Given the description of an element on the screen output the (x, y) to click on. 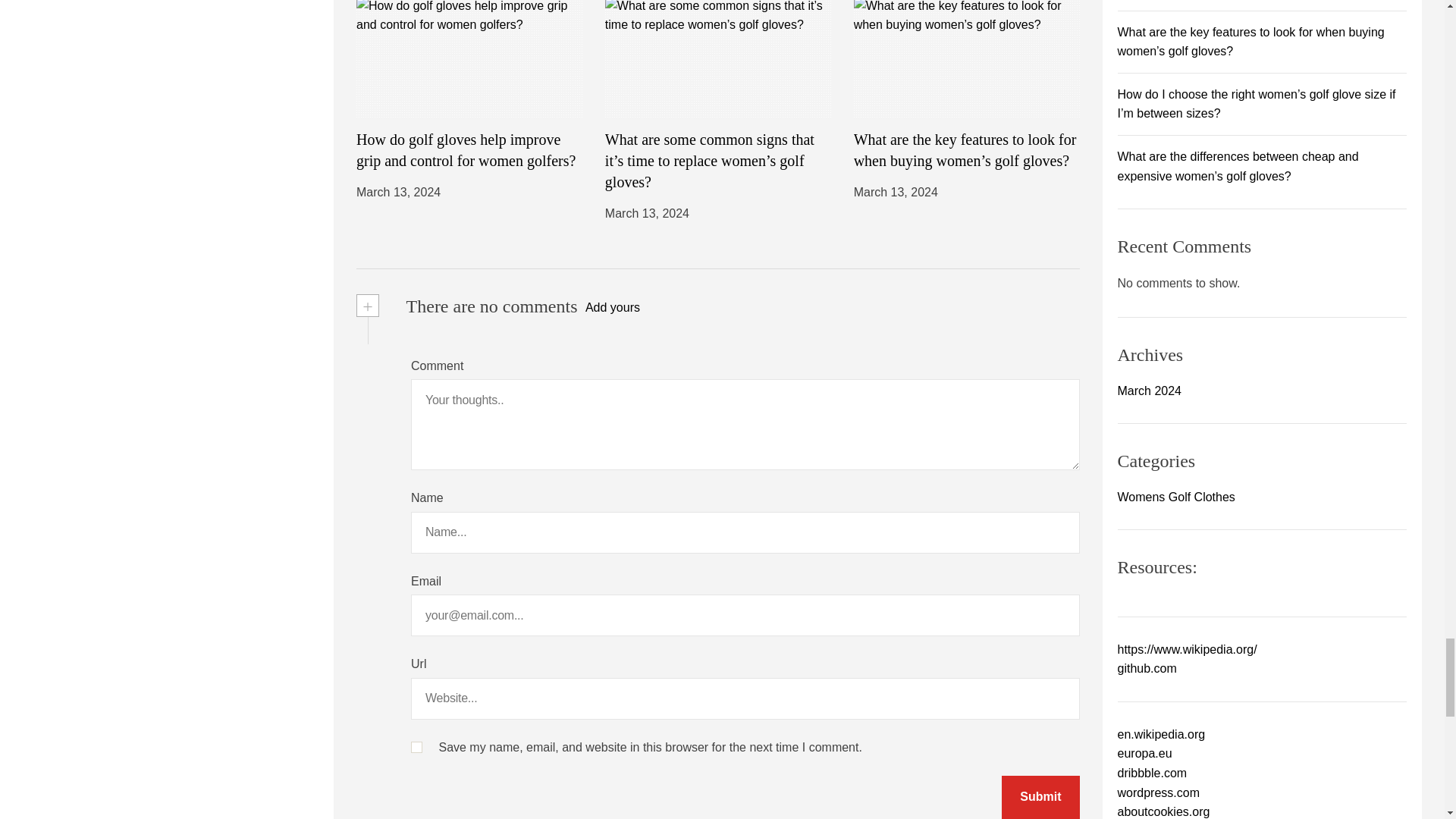
yes (416, 747)
Submit (1039, 797)
Submit (1039, 797)
Add yours (612, 307)
